Given the description of an element on the screen output the (x, y) to click on. 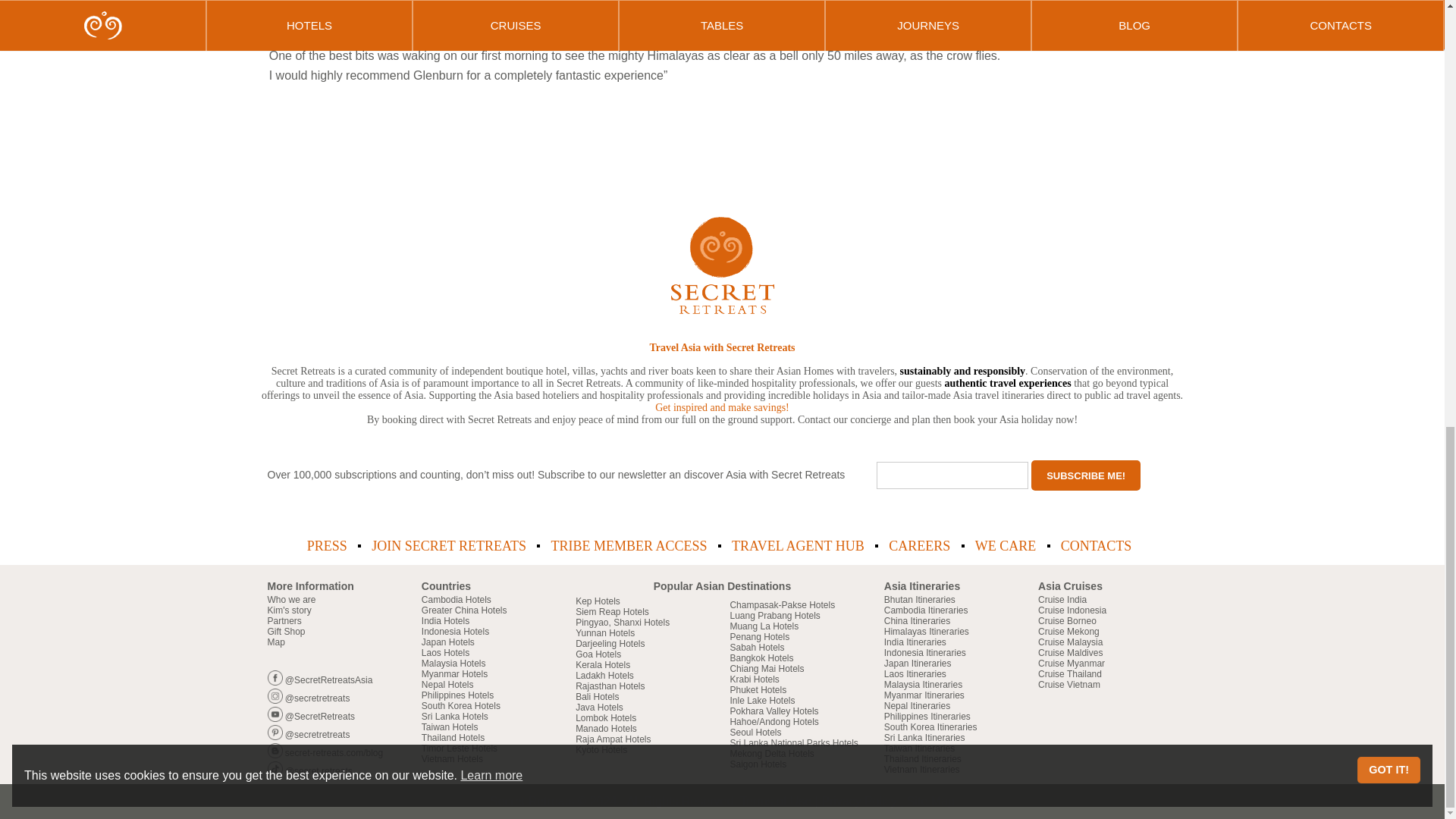
Subscribe me! (1085, 475)
